Given the description of an element on the screen output the (x, y) to click on. 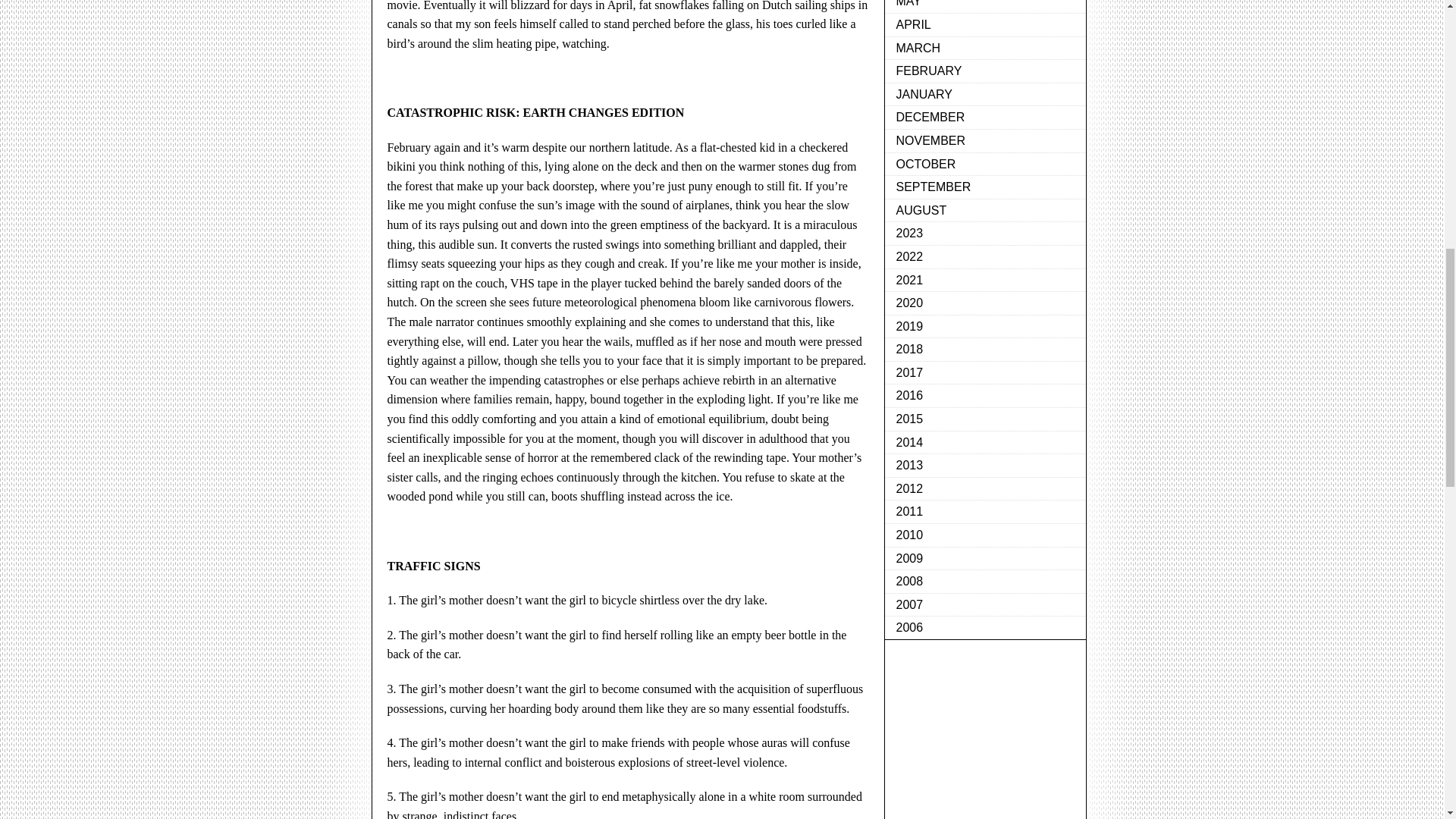
JANUARY (983, 95)
DECEMBER (983, 117)
APRIL (983, 24)
MAY (983, 6)
FEBRUARY (983, 71)
MARCH (983, 48)
